Given the description of an element on the screen output the (x, y) to click on. 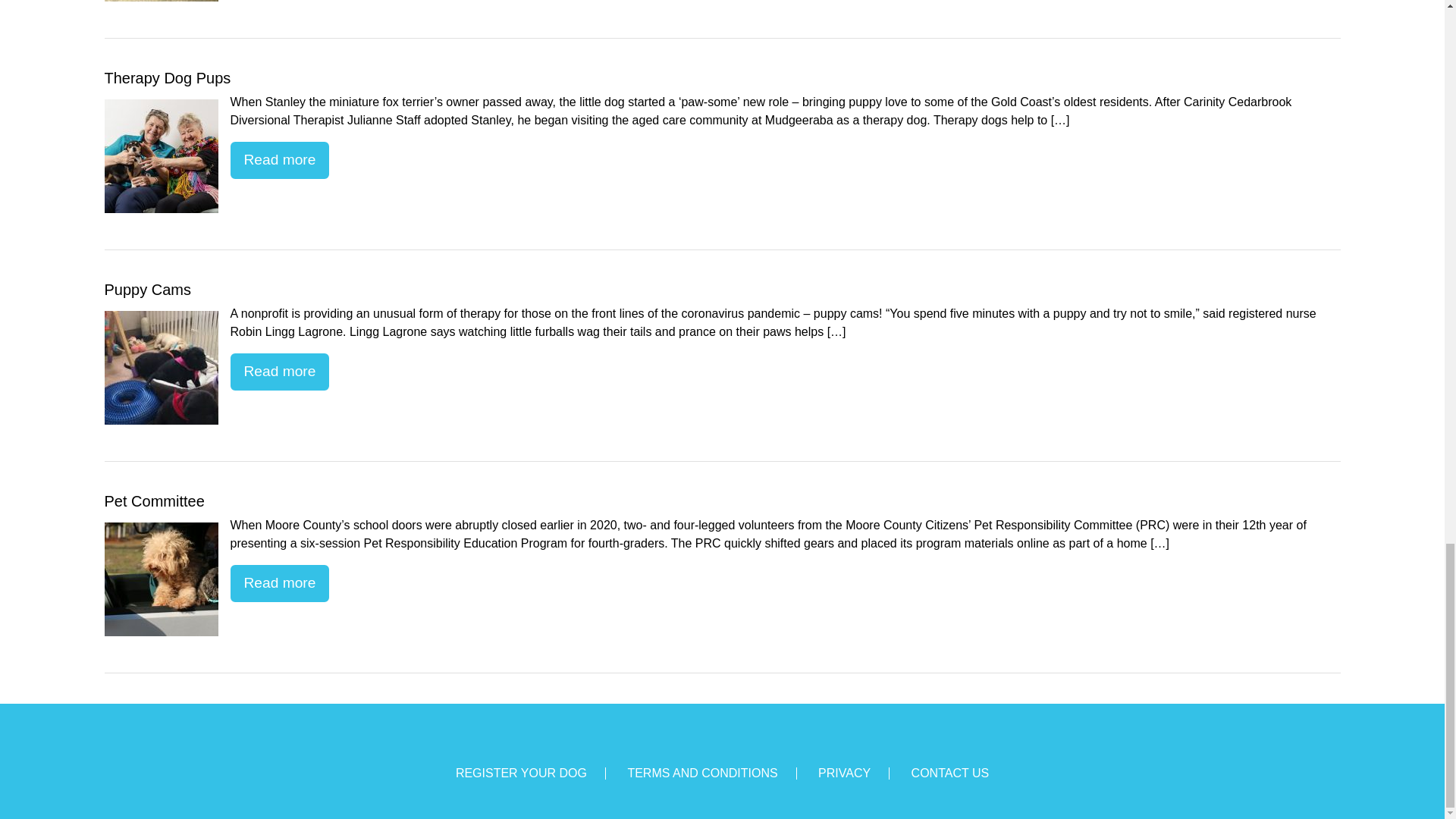
CONTACT US (950, 772)
Puppy Cams (161, 368)
PRIVACY (844, 772)
Read more (280, 371)
Read more (280, 583)
Read more (280, 160)
Pet Committee (161, 579)
TERMS AND CONDITIONS (702, 772)
Therapy Dog Pups (161, 155)
REGISTER YOUR DOG (520, 772)
